Given the description of an element on the screen output the (x, y) to click on. 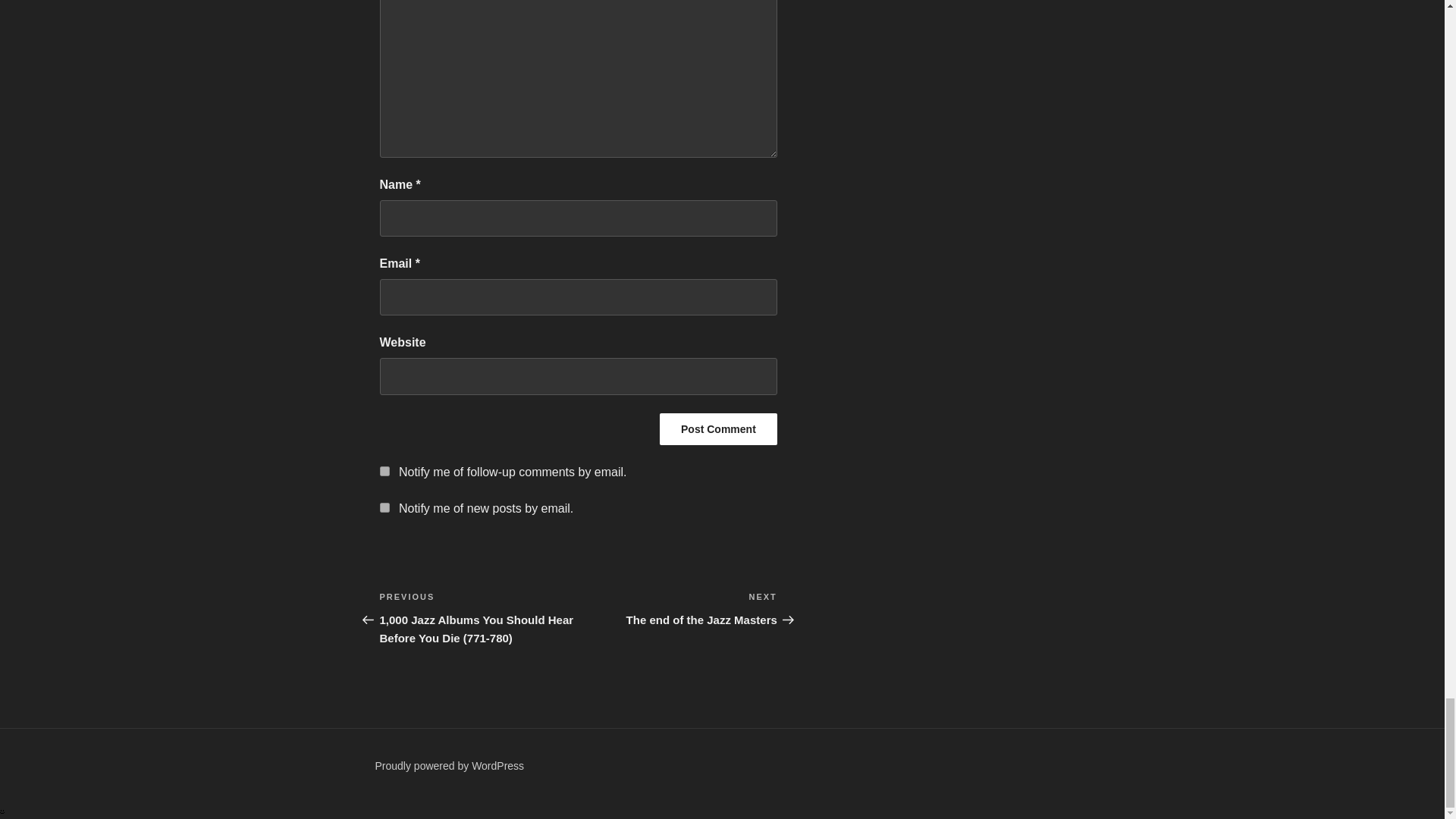
subscribe (383, 507)
subscribe (383, 470)
Post Comment (718, 429)
